Given the description of an element on the screen output the (x, y) to click on. 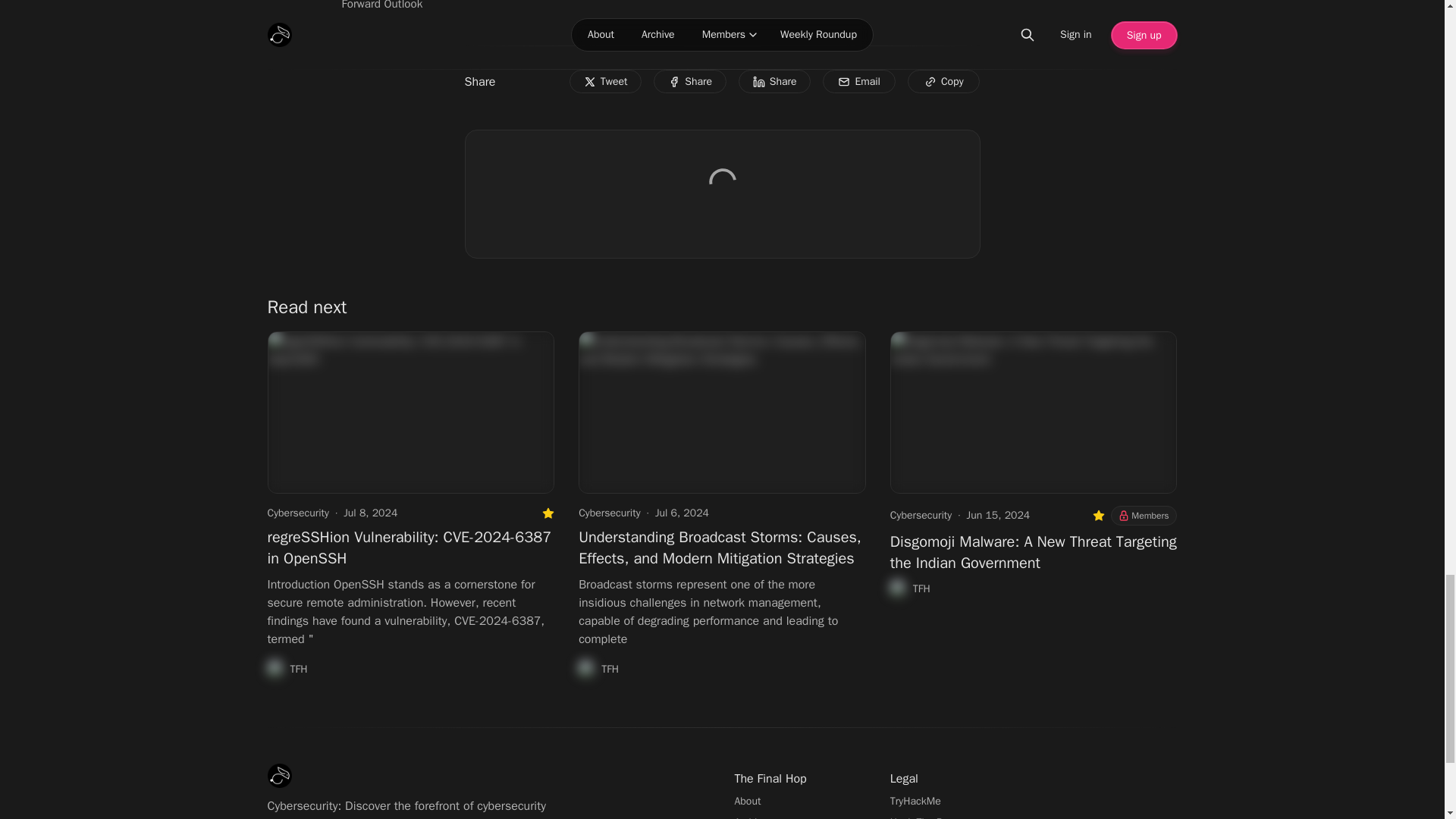
Email (858, 81)
TFH (286, 669)
comments-frame (721, 199)
Share on Linkedin (774, 81)
Cybersecurity (297, 513)
regreSSHion Vulnerability: CVE-2024-6387 in OpenSSH (408, 547)
Share (774, 81)
Share (689, 81)
Share on Facebook (689, 81)
